Given the description of an element on the screen output the (x, y) to click on. 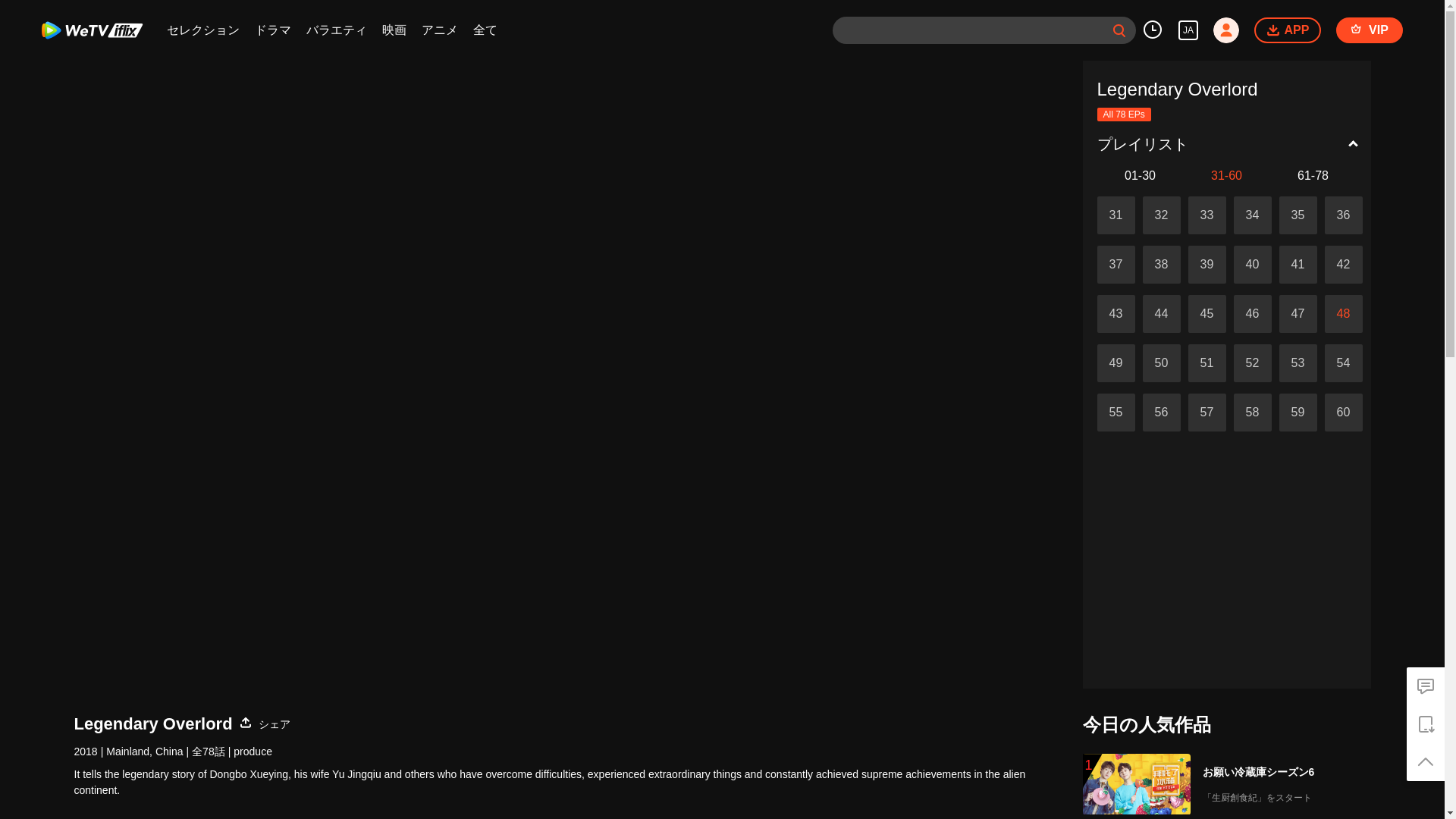
VIP (1369, 30)
